Given the description of an element on the screen output the (x, y) to click on. 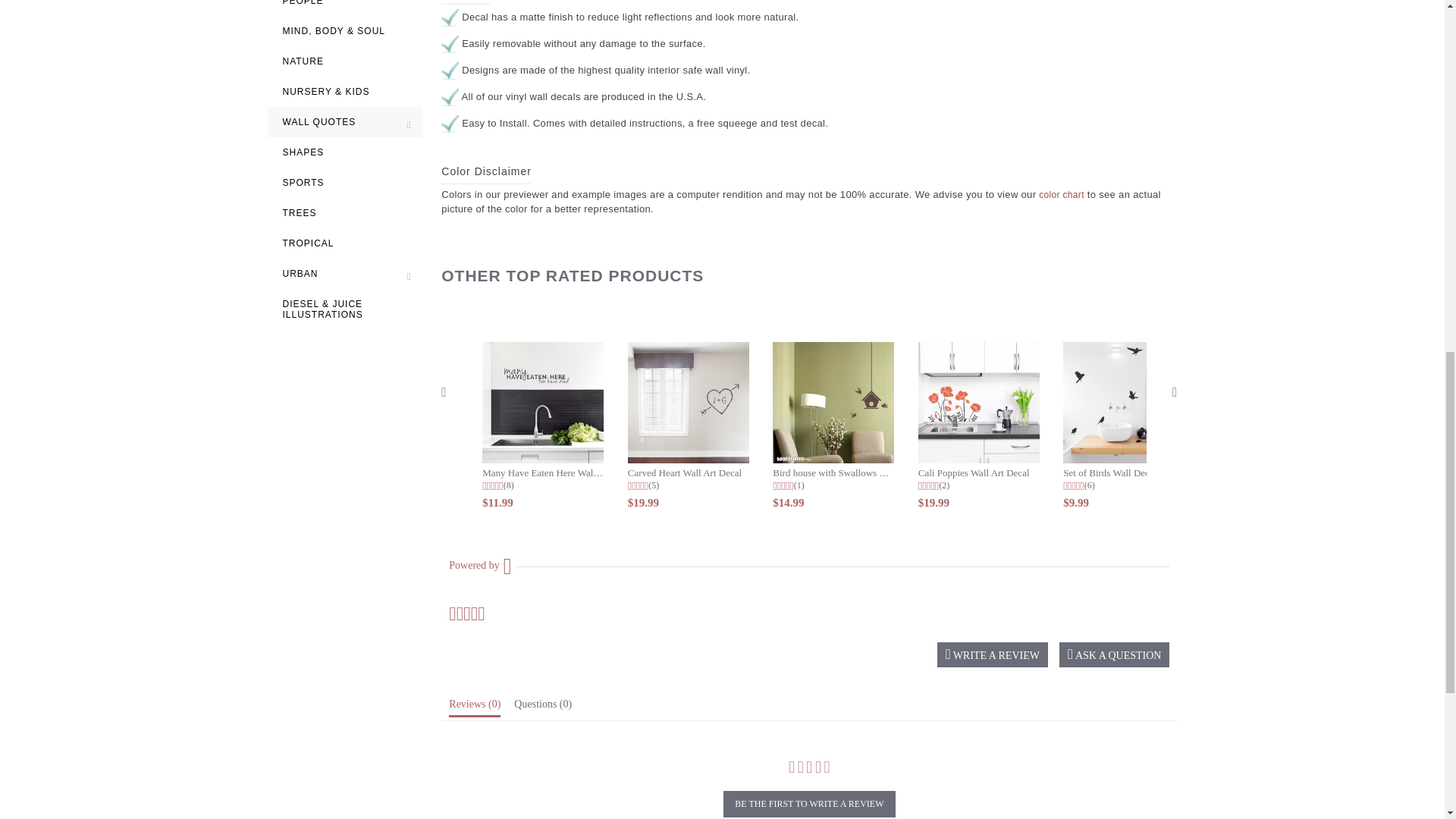
Color Chart (1061, 194)
